Given the description of an element on the screen output the (x, y) to click on. 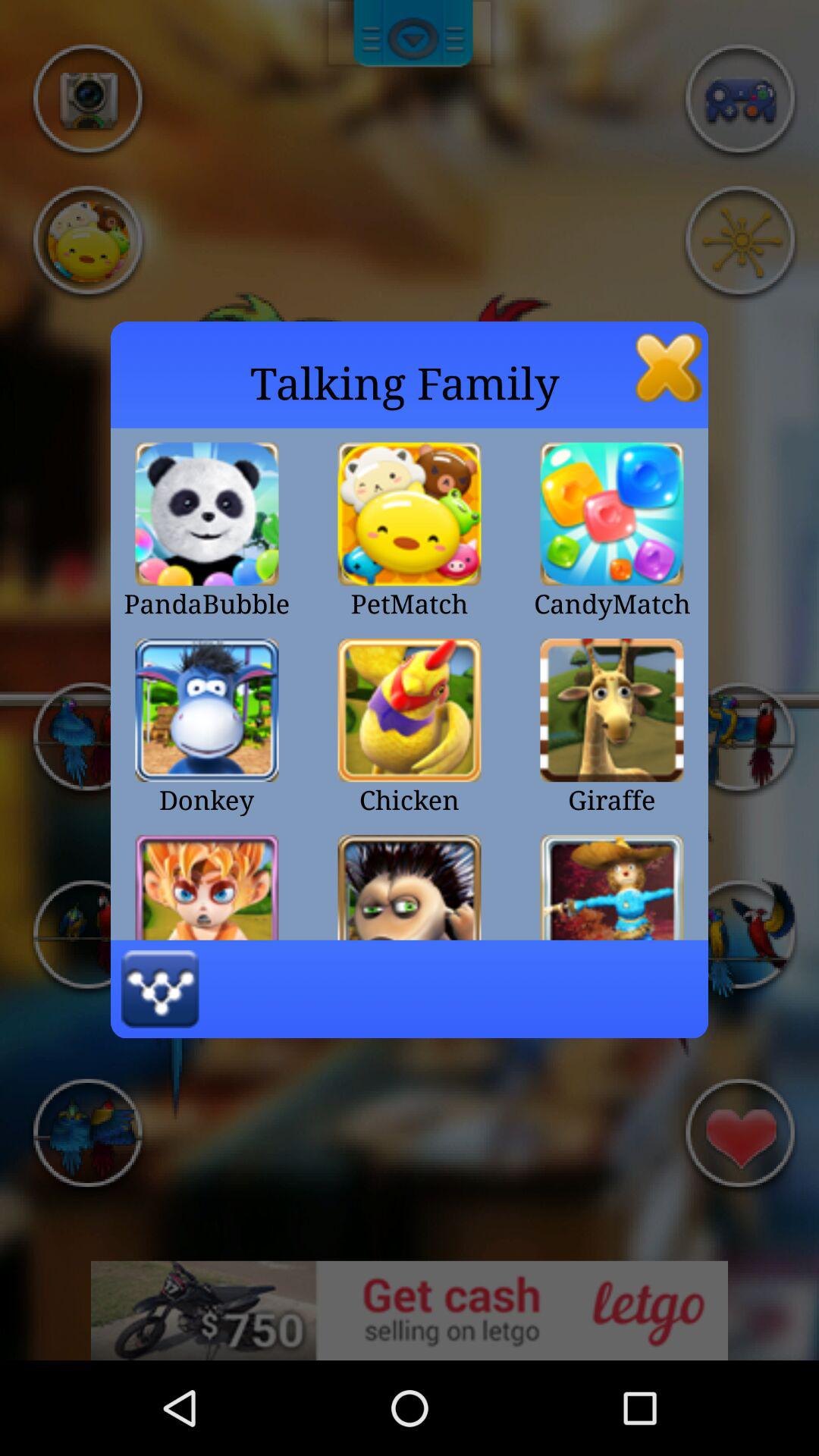
close the sub-menu (668, 367)
